Given the description of an element on the screen output the (x, y) to click on. 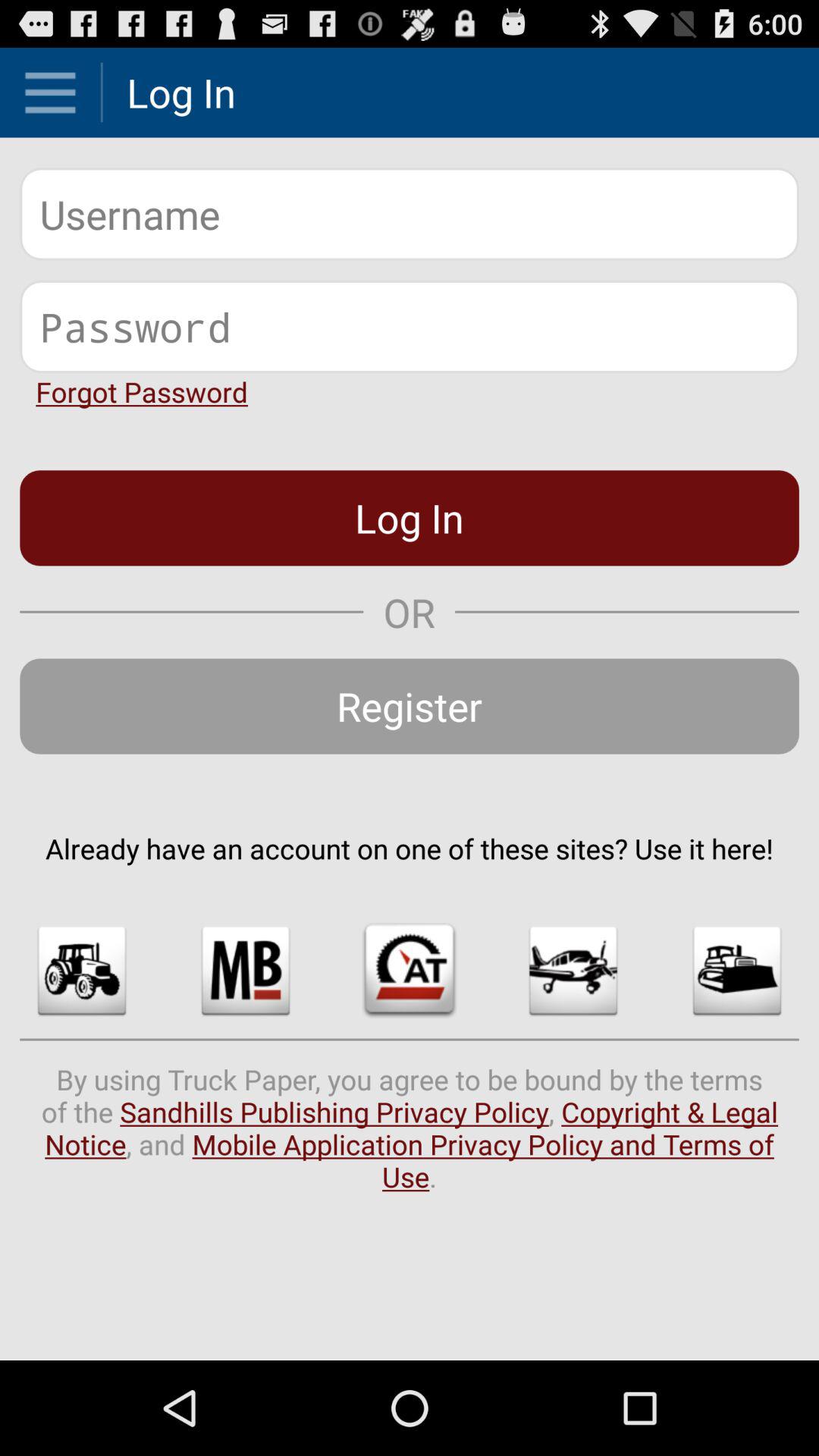
password (409, 326)
